Given the description of an element on the screen output the (x, y) to click on. 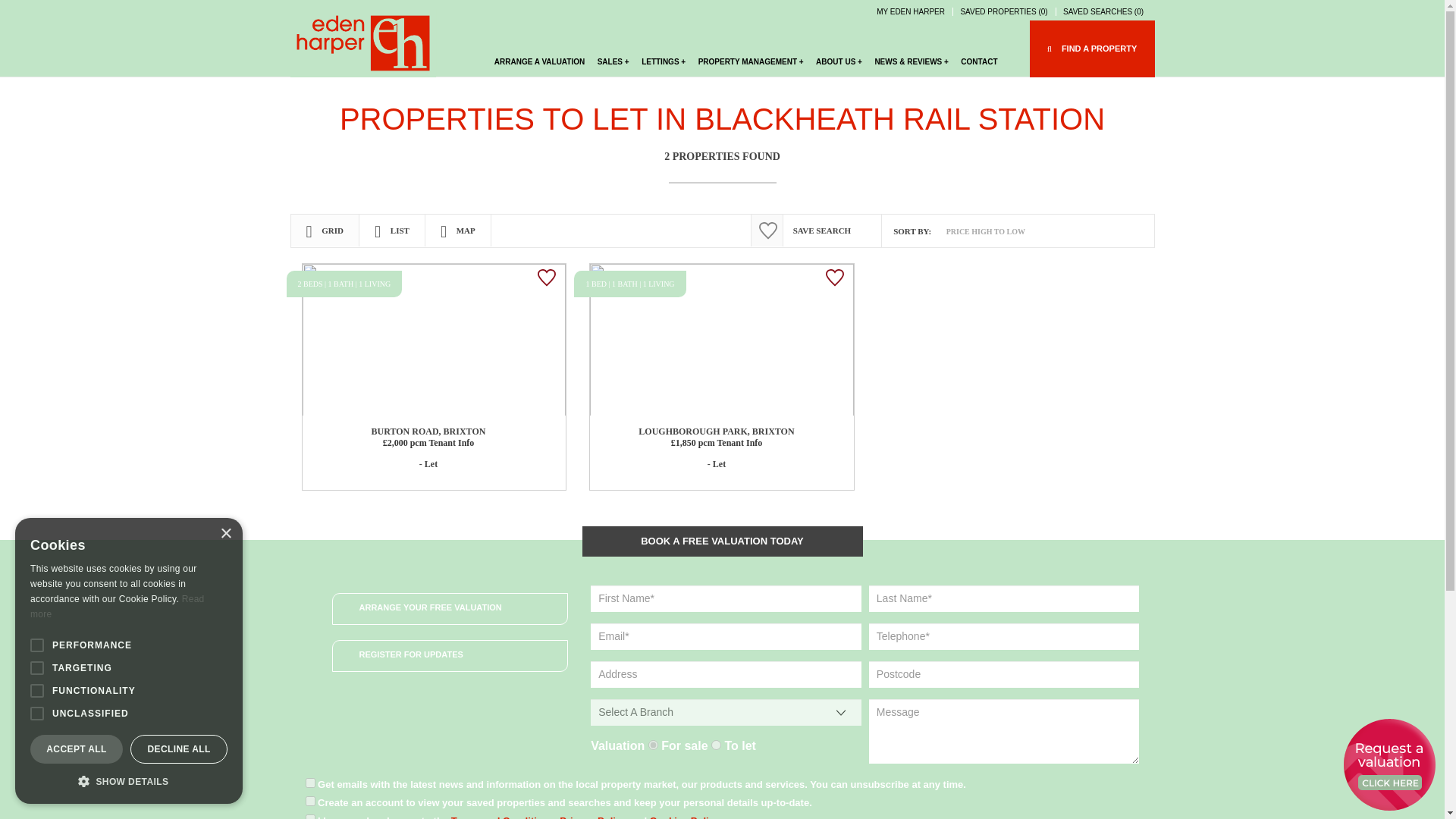
sales (652, 745)
on (309, 800)
on (309, 816)
lettings (715, 745)
MY EDEN HARPER (912, 11)
on (309, 782)
